Given the description of an element on the screen output the (x, y) to click on. 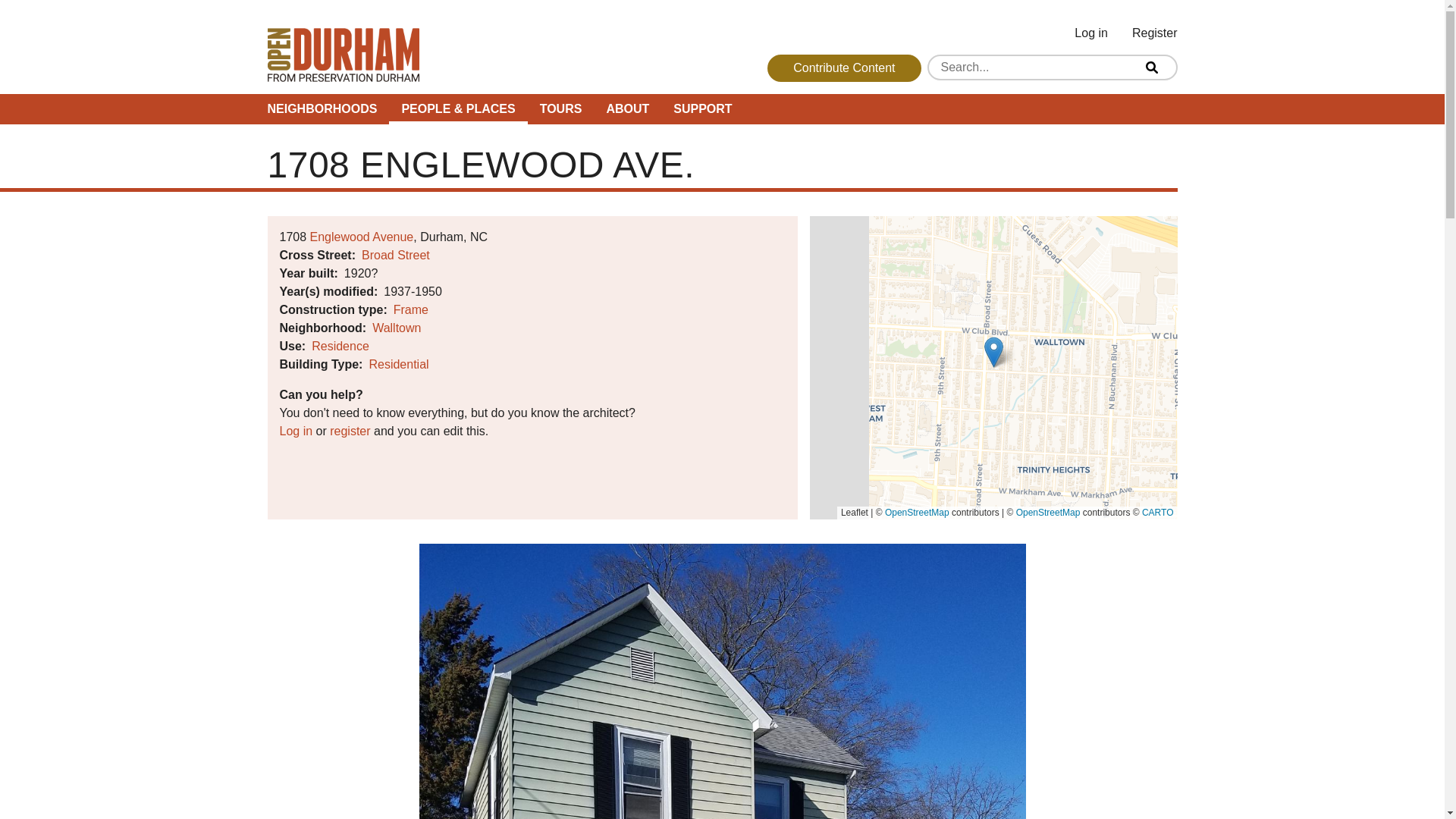
Residence (340, 345)
SUPPORT (702, 109)
Neighborhoods (321, 109)
Log in (296, 431)
Residential (398, 364)
About (627, 109)
Register (1154, 33)
Broad Street (395, 254)
Log in (1090, 33)
Walltown (396, 327)
